Given the description of an element on the screen output the (x, y) to click on. 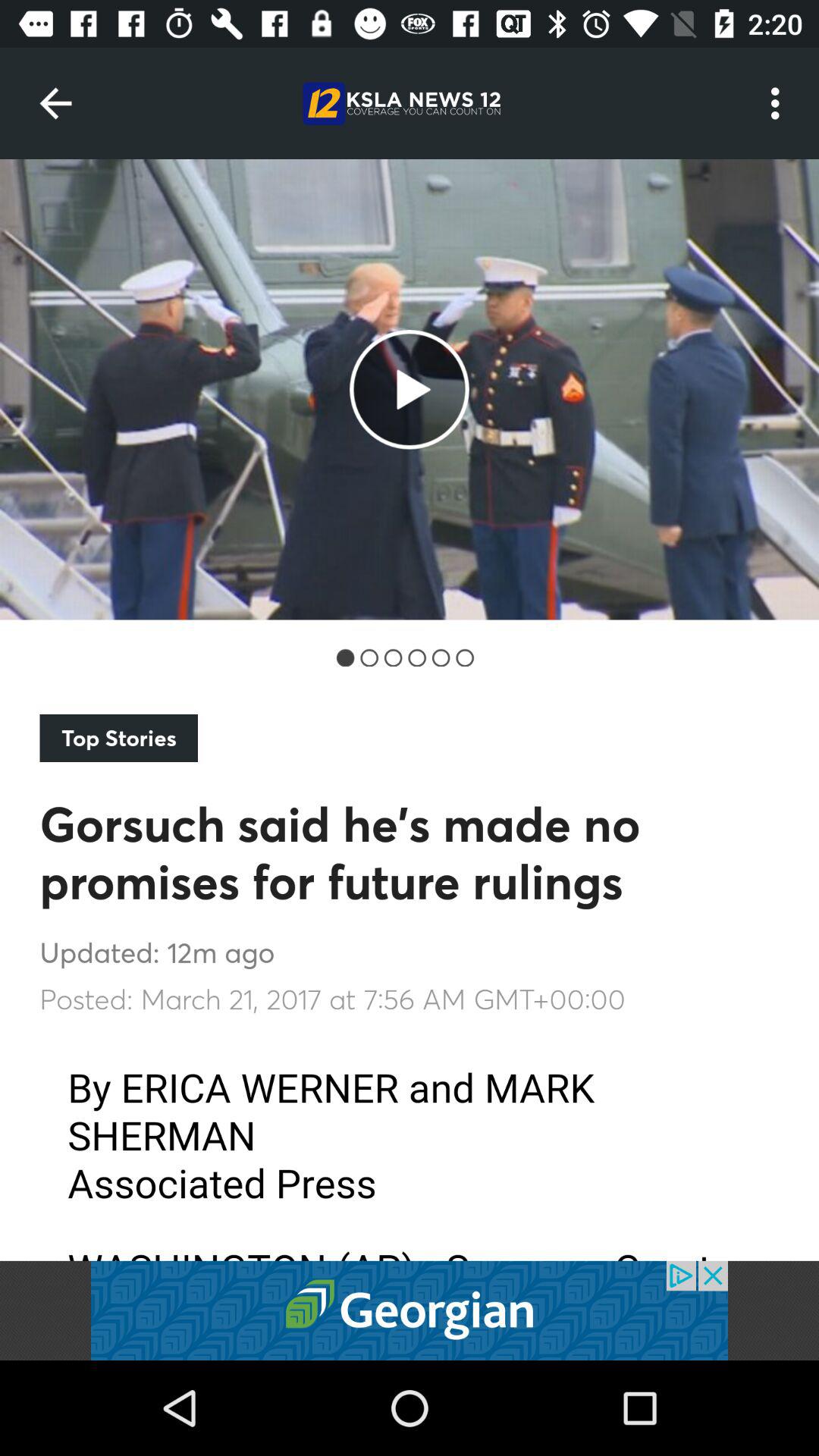
click on advertisement below (409, 1310)
